Given the description of an element on the screen output the (x, y) to click on. 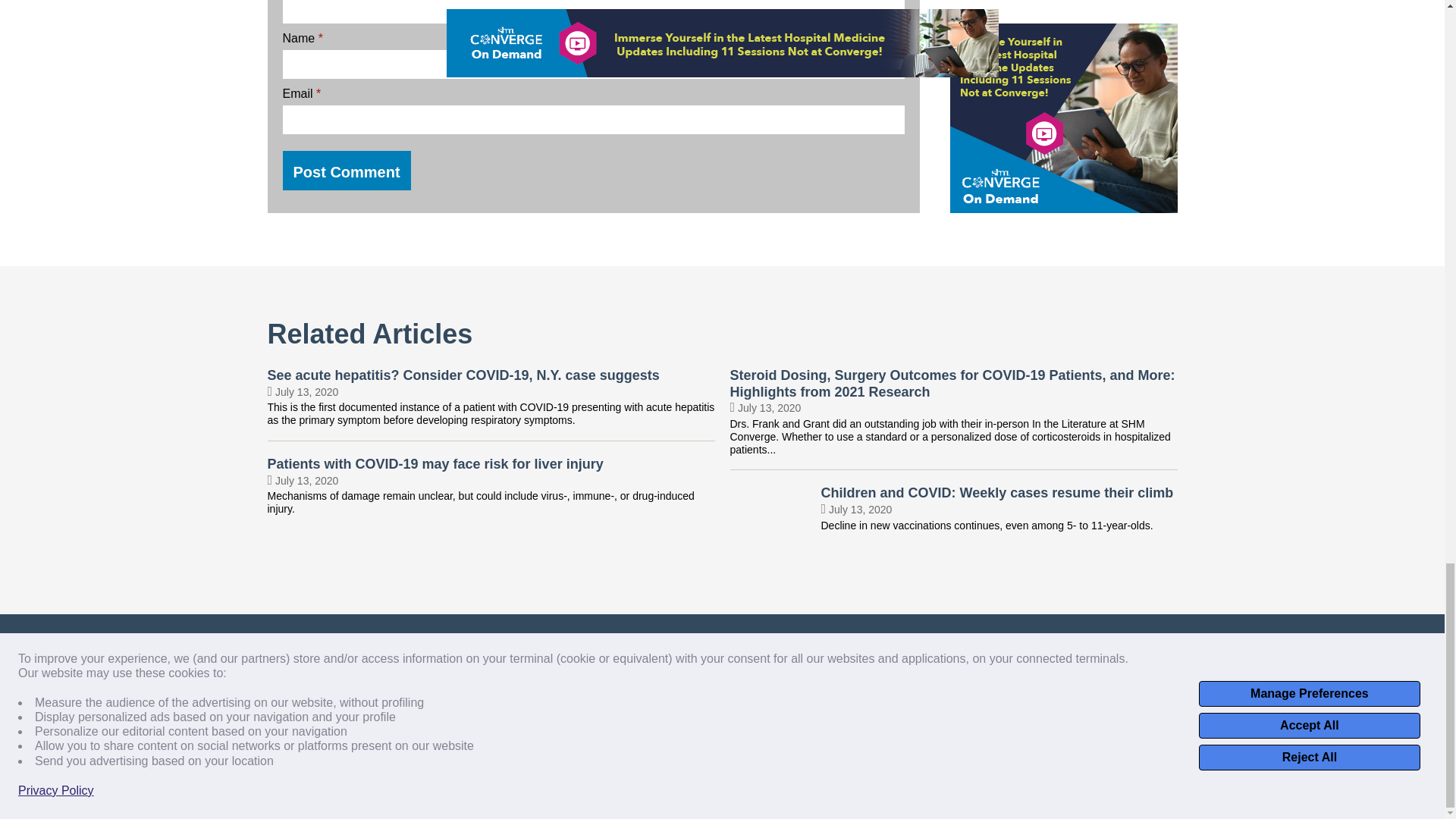
Post Comment (346, 170)
